Given the description of an element on the screen output the (x, y) to click on. 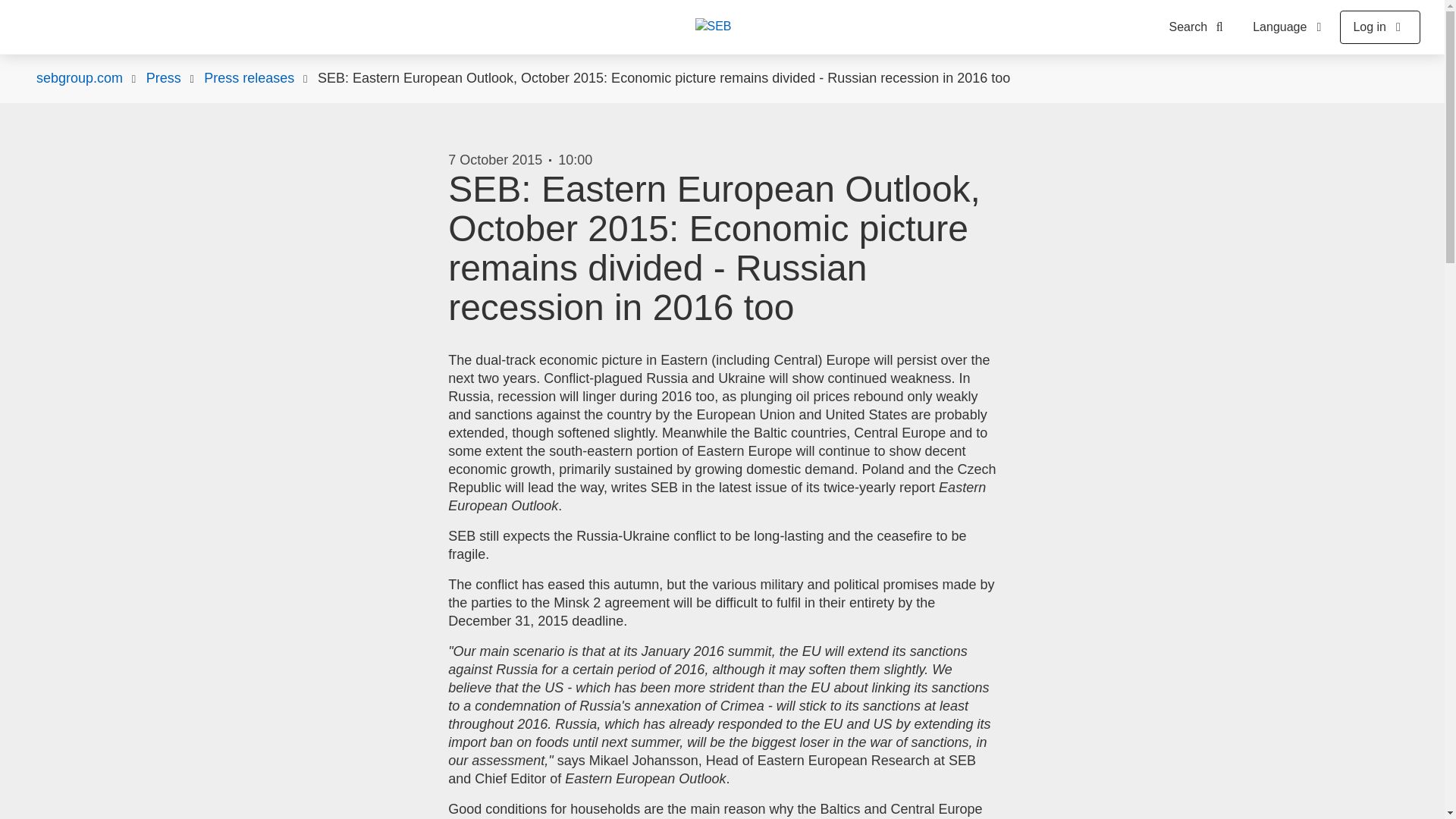
Press releases (248, 78)
sebgroup.com (79, 78)
Language (1289, 27)
Log in (1380, 27)
Press (163, 78)
Search (1199, 27)
